Given the description of an element on the screen output the (x, y) to click on. 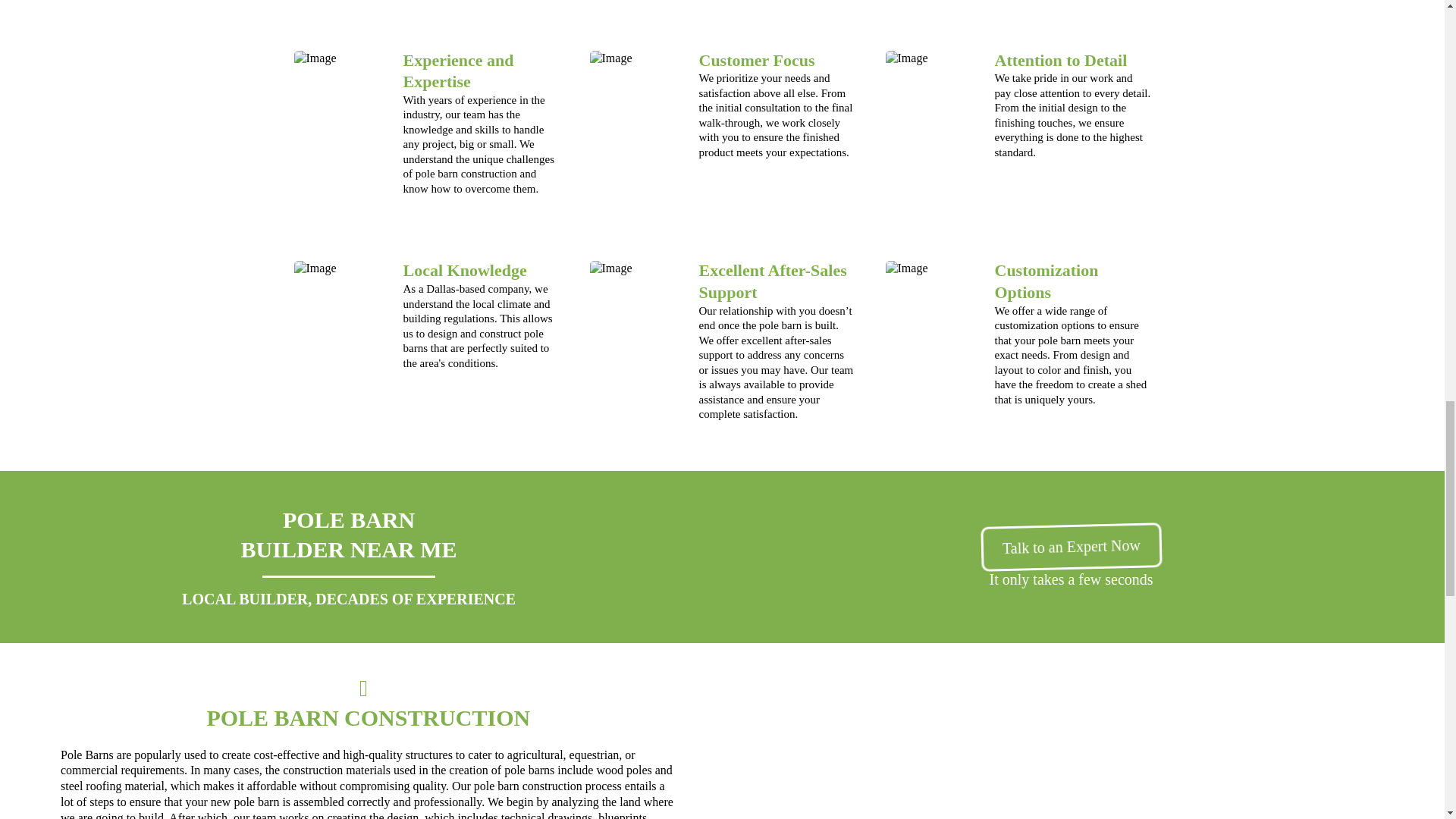
Talk to an Expert Now (1071, 546)
